Given the description of an element on the screen output the (x, y) to click on. 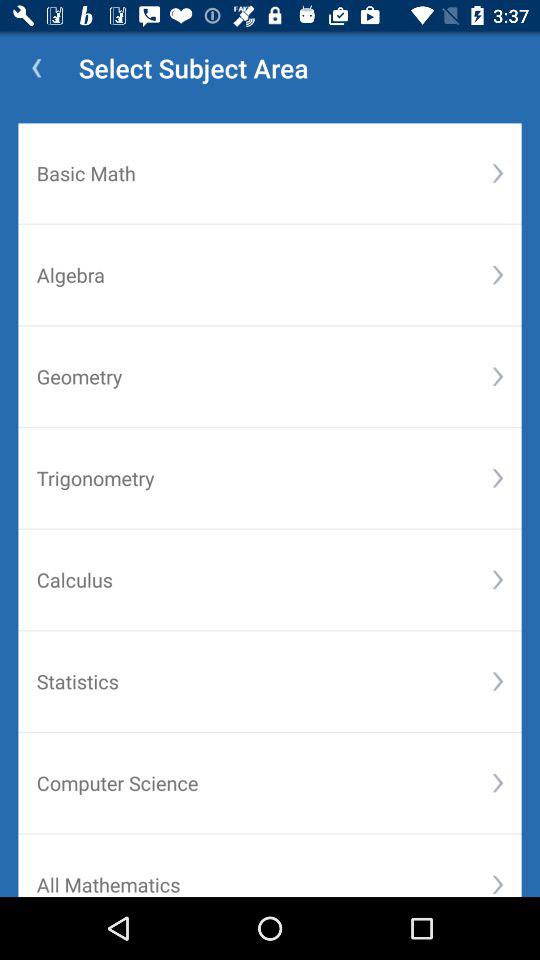
turn on the icon next to select subject area (36, 68)
